Given the description of an element on the screen output the (x, y) to click on. 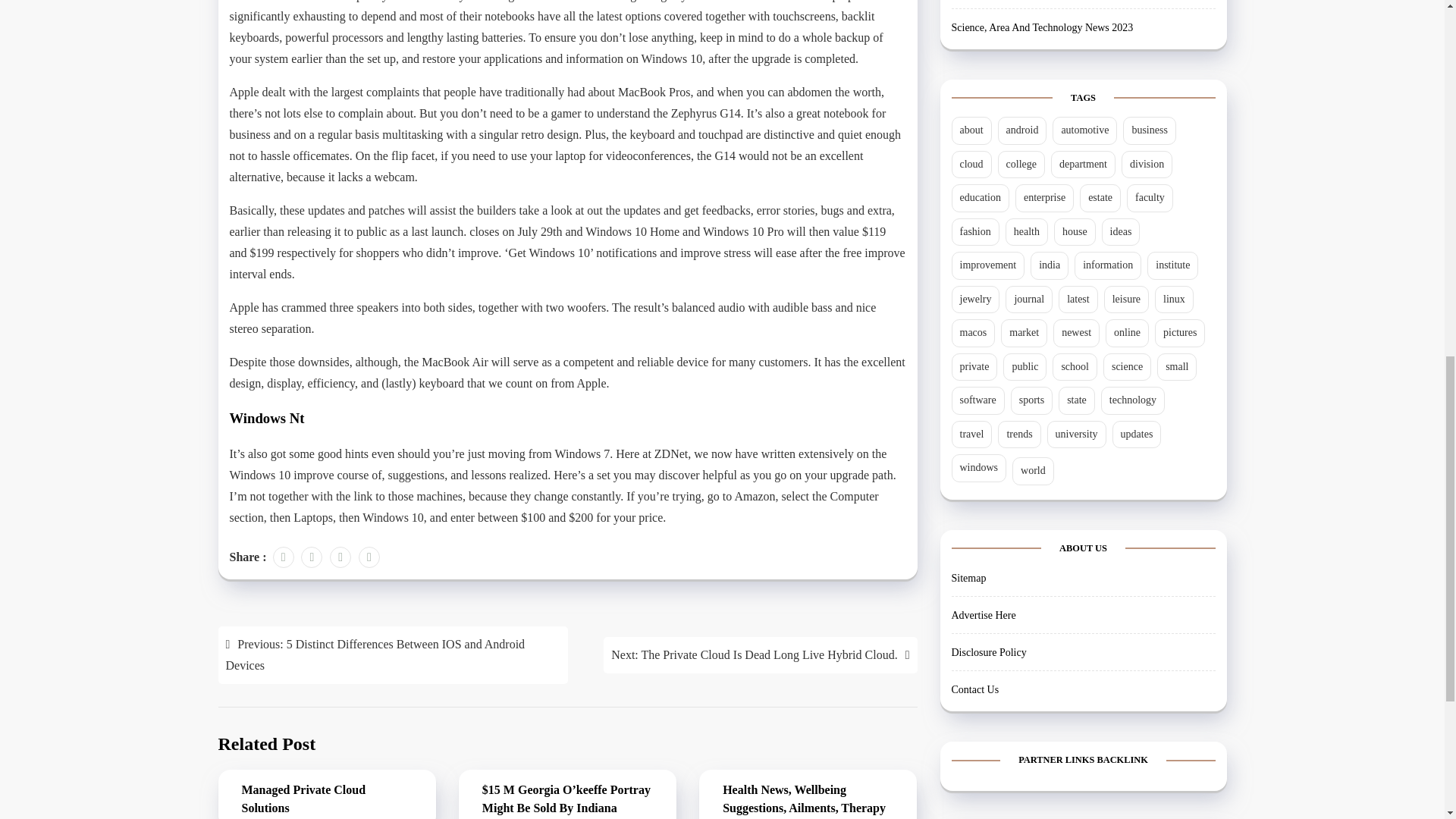
Managed Private Cloud Solutions (326, 799)
Next: The Private Cloud Is Dead Long Live Hybrid Cloud. (760, 655)
